Given the description of an element on the screen output the (x, y) to click on. 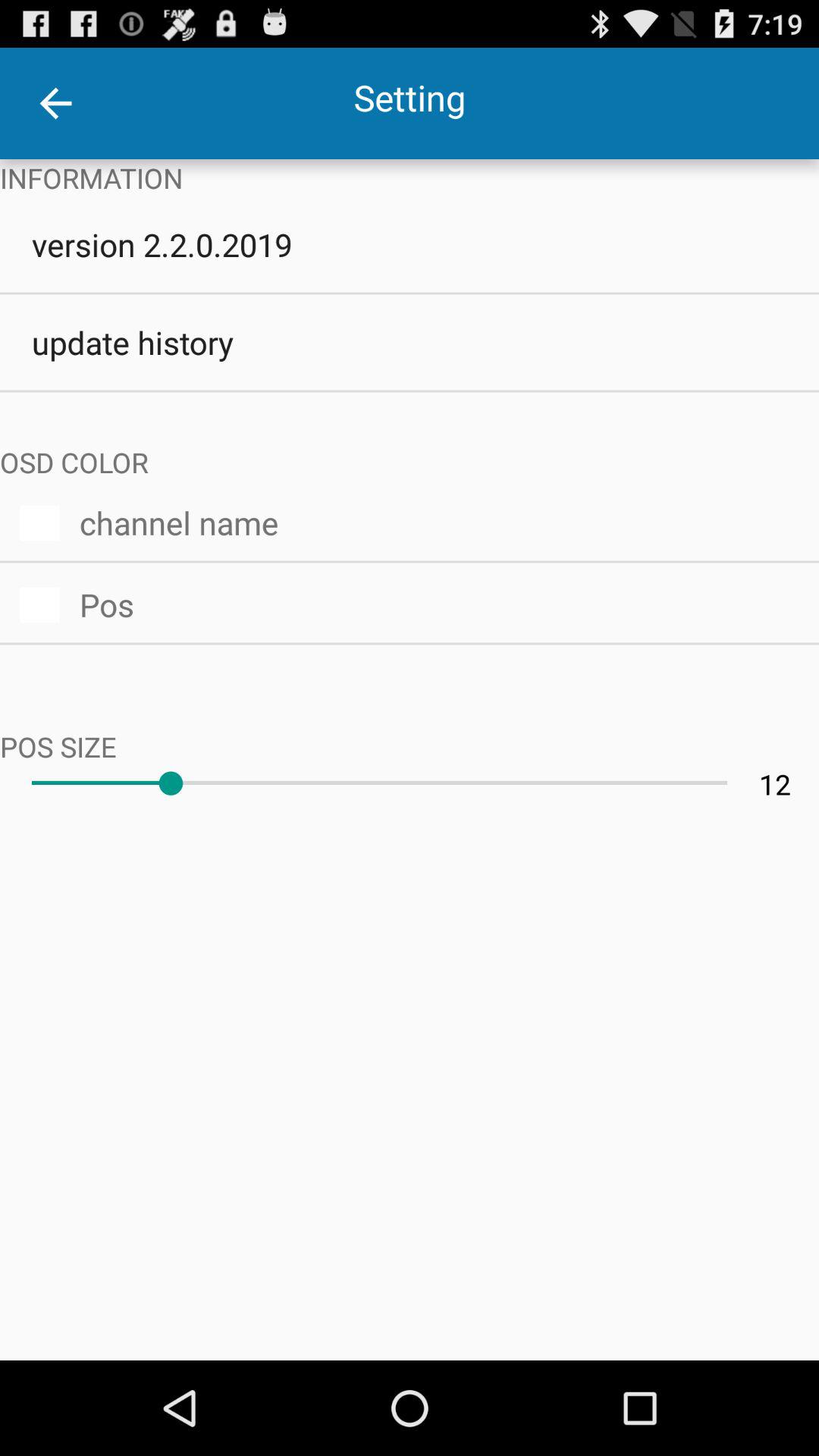
choose item above update history item (409, 244)
